Given the description of an element on the screen output the (x, y) to click on. 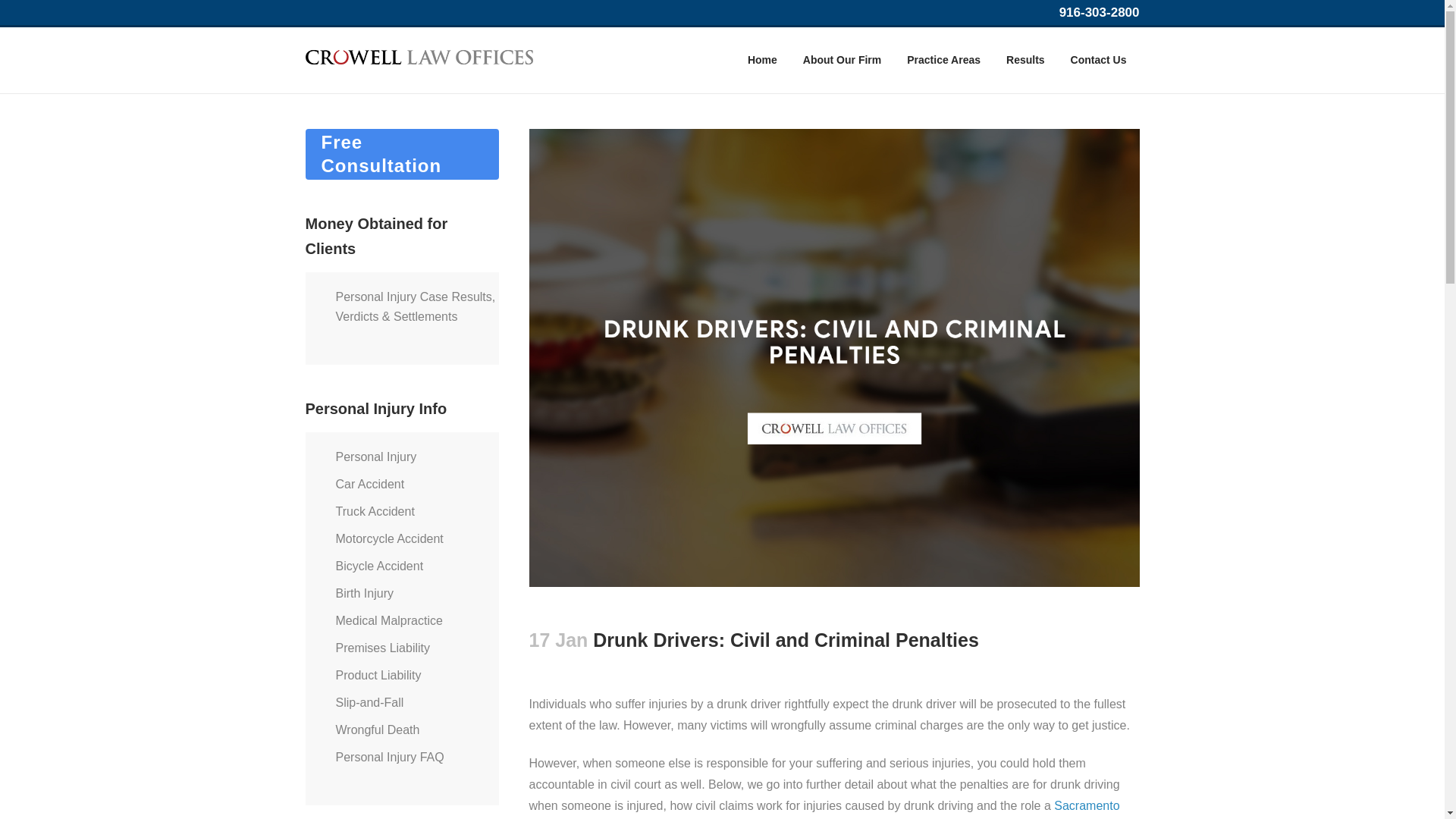
Results (1025, 60)
916-303-2800 (1099, 11)
About Our Firm (841, 60)
Practice Areas (942, 60)
